Given the description of an element on the screen output the (x, y) to click on. 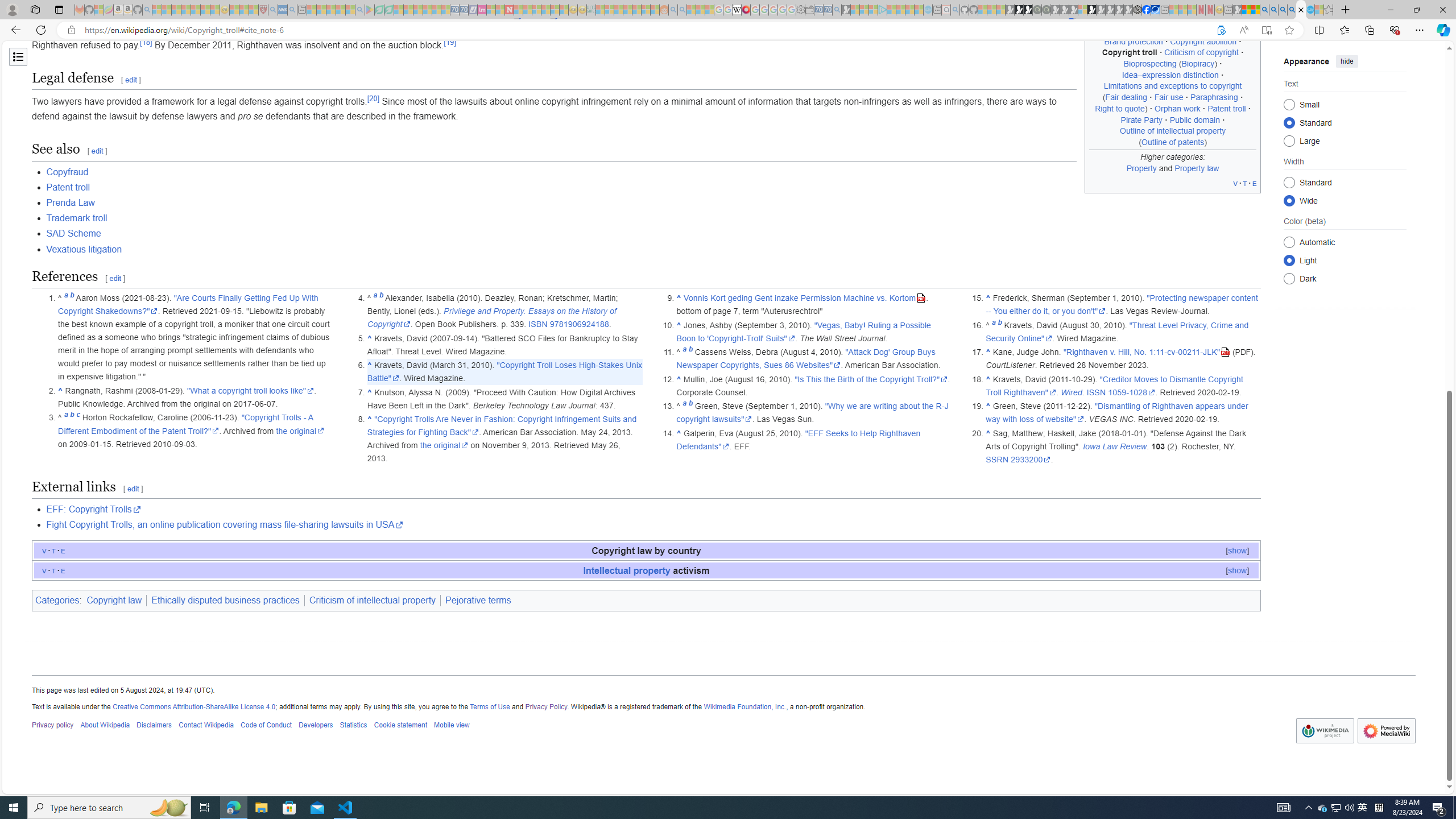
Automatic (1289, 241)
Creative Commons Attribution-ShareAlike License 4.0 (193, 706)
Contact Wikipedia (206, 725)
Jump up (987, 433)
Terms of Use (488, 706)
